Given the description of an element on the screen output the (x, y) to click on. 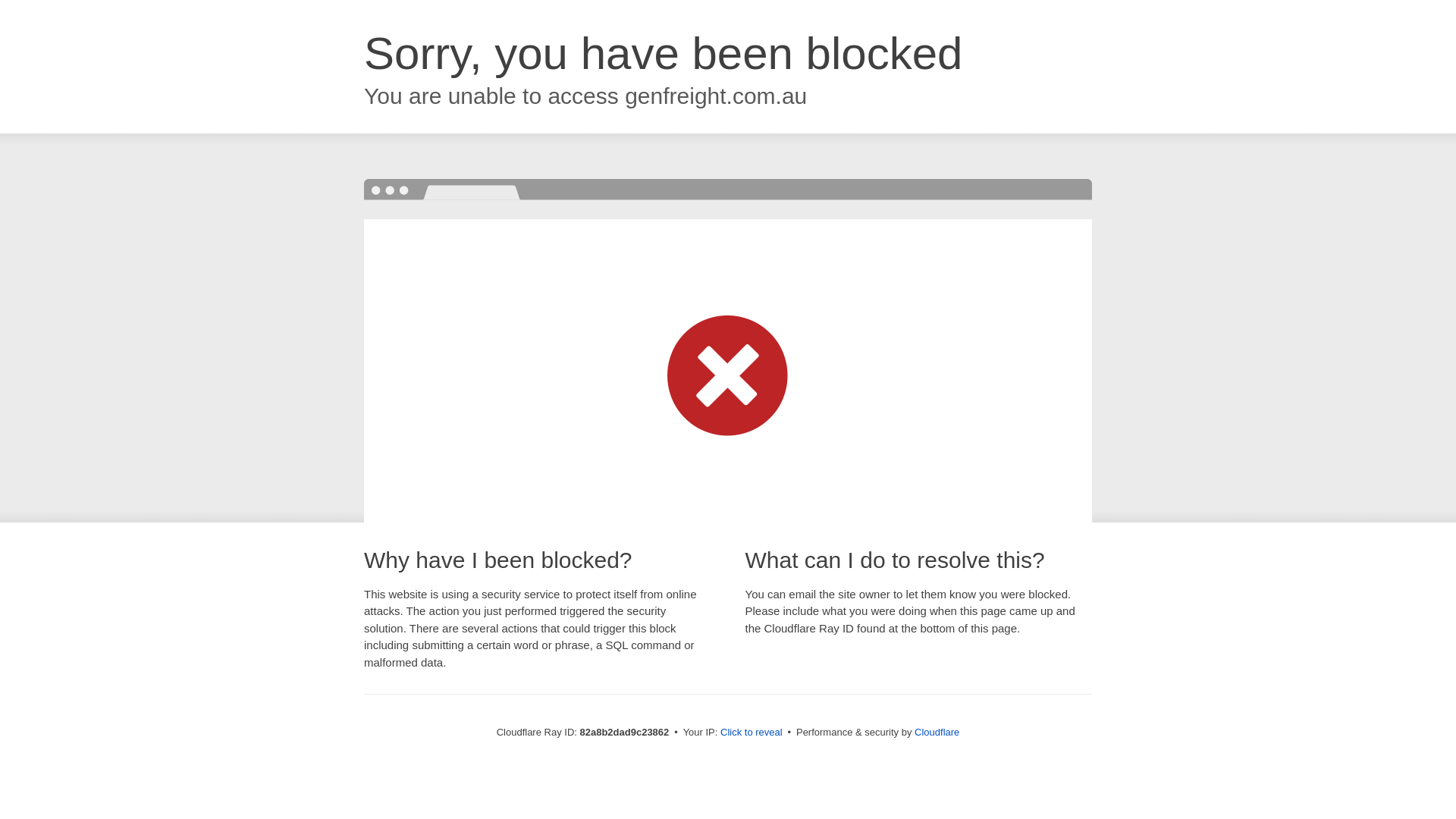
Click to reveal Element type: text (751, 732)
Cloudflare Element type: text (936, 731)
